Given the description of an element on the screen output the (x, y) to click on. 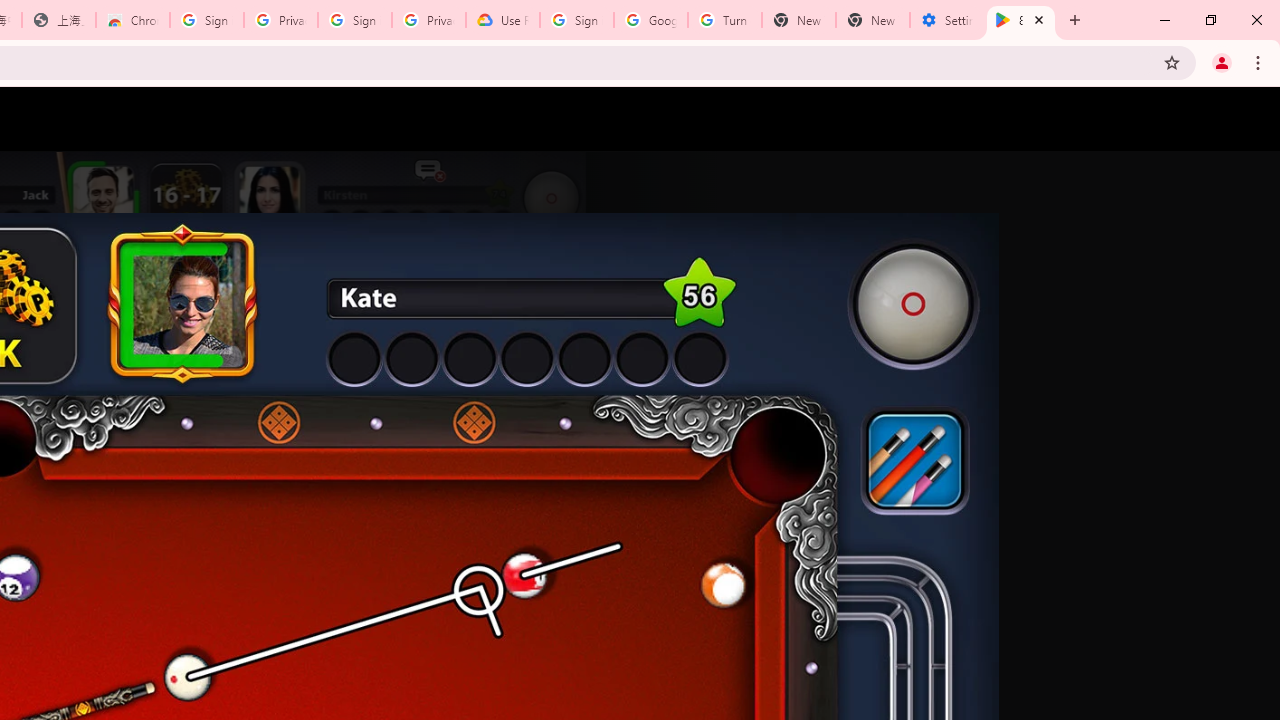
Google Account Help (651, 20)
Sign in - Google Accounts (207, 20)
Sign in - Google Accounts (577, 20)
Chrome Web Store - Color themes by Chrome (133, 20)
New Tab (872, 20)
Open account menu (1245, 119)
Help Center (1197, 119)
Sign in - Google Accounts (354, 20)
